Given the description of an element on the screen output the (x, y) to click on. 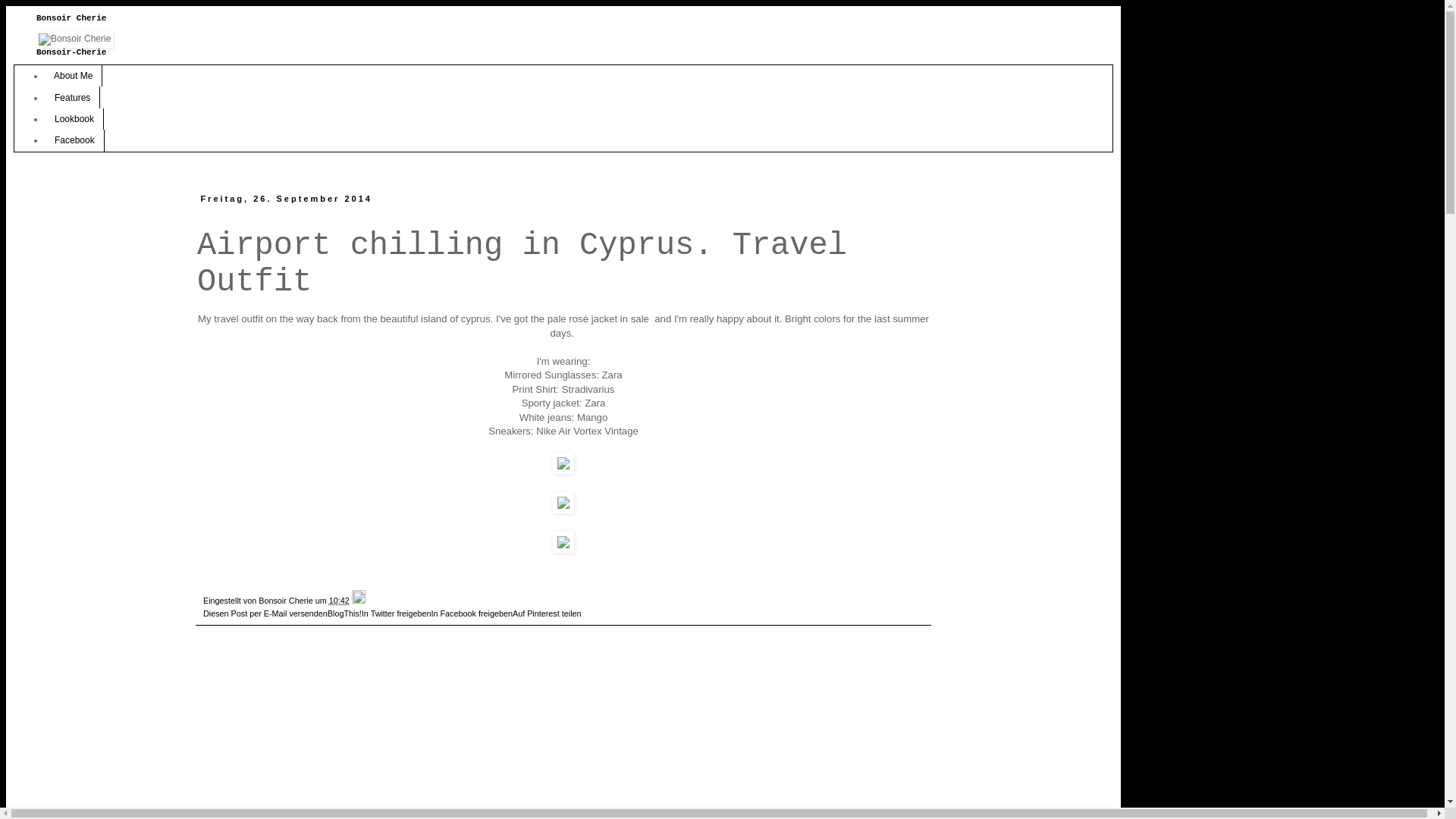
Post bearbeiten Element type: hover (358, 600)
BlogThis! Element type: text (344, 613)
About Me Element type: text (73, 75)
Diesen Post per E-Mail versenden Element type: text (265, 613)
In Facebook freigeben Element type: text (470, 613)
Facebook Element type: text (74, 139)
Lookbook Element type: text (73, 118)
Bonsoir Cherie Element type: text (286, 600)
Auf Pinterest teilen Element type: text (546, 613)
In Twitter freigeben Element type: text (396, 613)
Features Element type: text (72, 96)
10:42 Element type: text (339, 600)
